Given the description of an element on the screen output the (x, y) to click on. 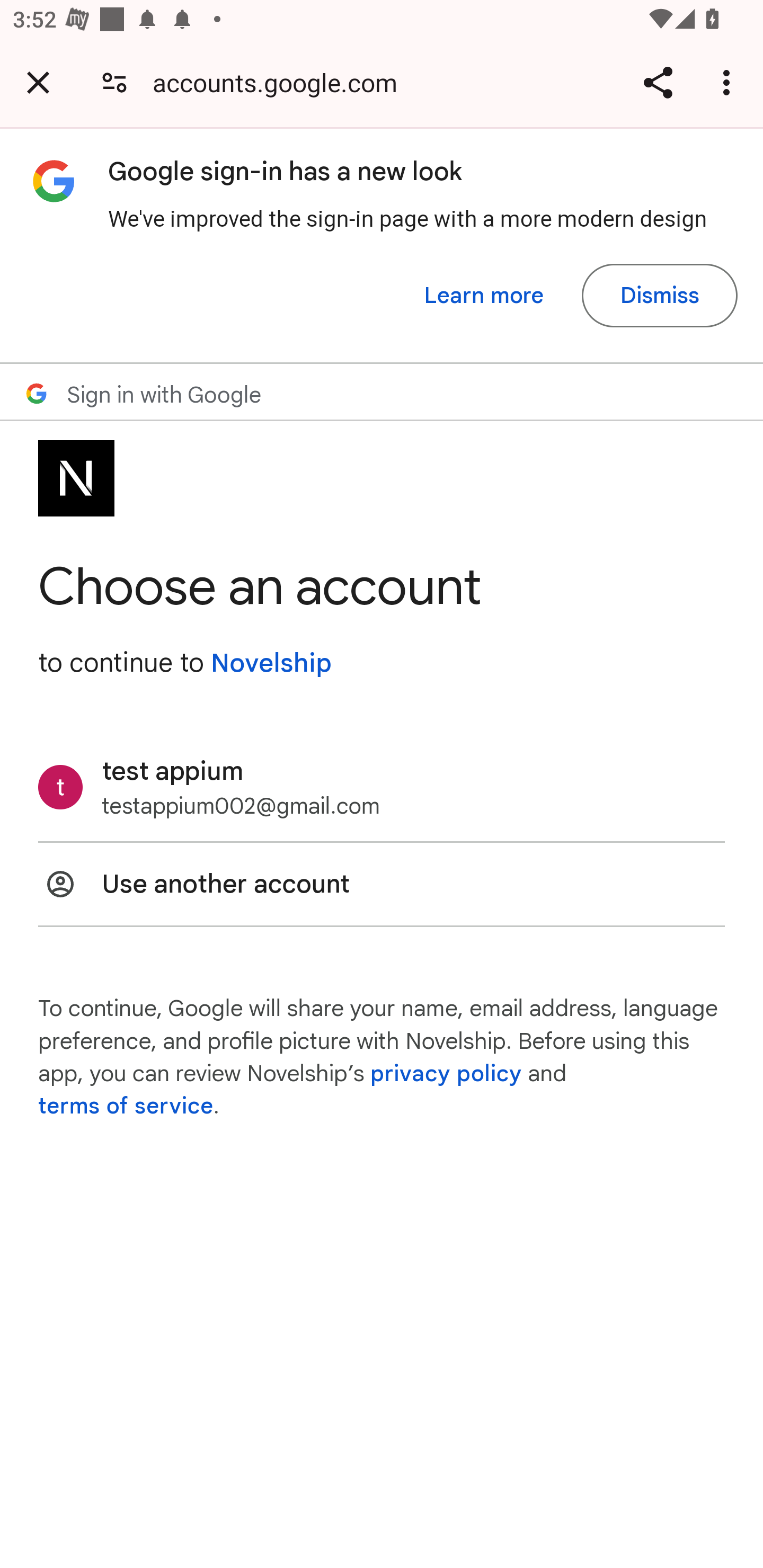
Close tab (38, 82)
Share (657, 82)
Customize and control Google Chrome (729, 82)
Connection is secure (114, 81)
accounts.google.com (281, 81)
Learn more (483, 295)
Dismiss (659, 295)
Novelship (270, 663)
Use another account (381, 884)
privacy policy (445, 1072)
terms of service (126, 1106)
